Given the description of an element on the screen output the (x, y) to click on. 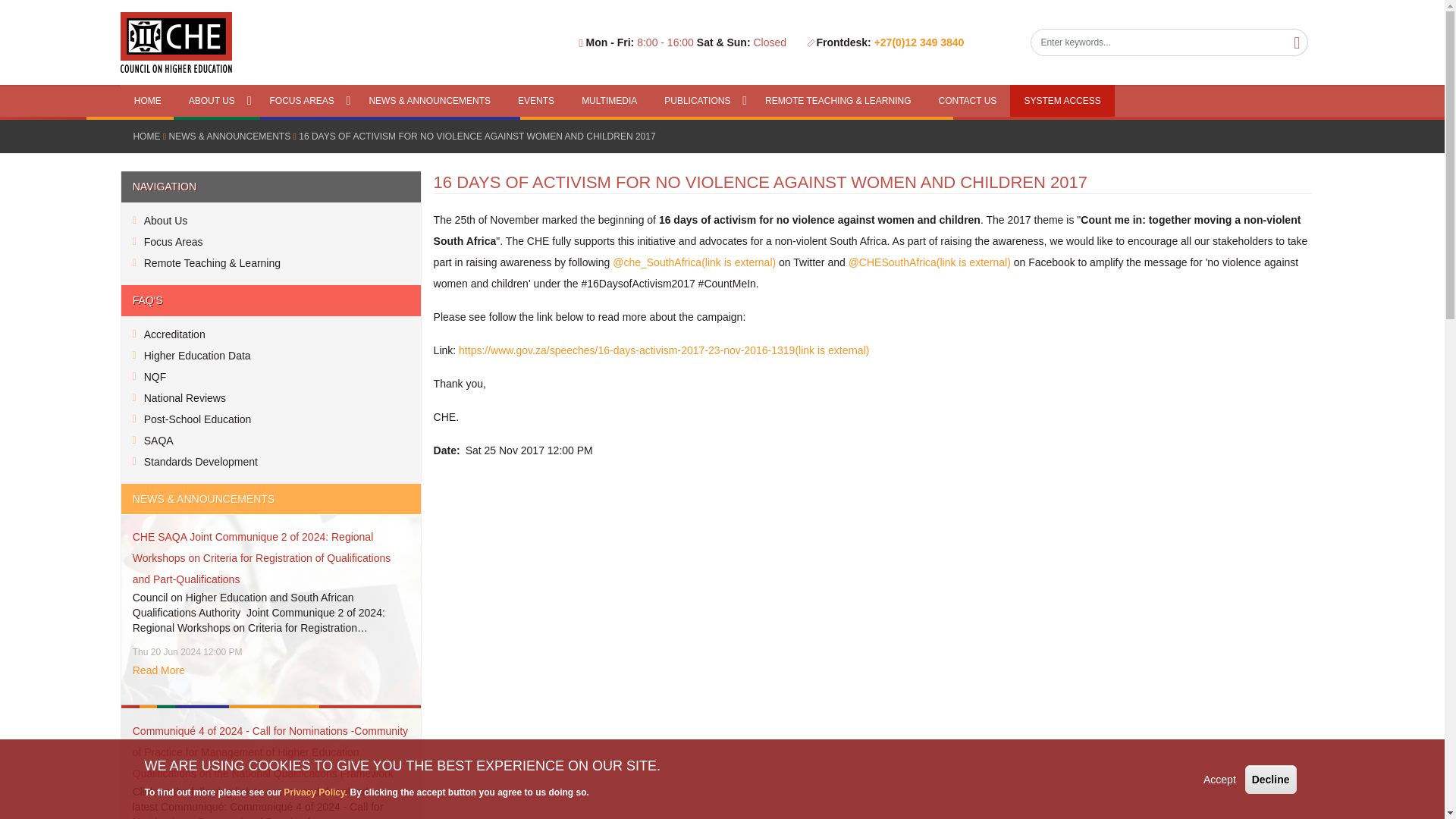
EVENTS (535, 101)
Accreditation (270, 333)
Post-School Education (270, 418)
NQF (270, 376)
ABOUT US (215, 101)
SAQA (270, 440)
CONTACT US (967, 101)
Standards Development (270, 461)
FOCUS AREAS (305, 101)
Share to Twitter (476, 495)
PUBLICATIONS (700, 101)
Share to Email (563, 495)
Higher Education Data (270, 355)
Share to WhatsApp (505, 495)
National Reviews (270, 397)
